Given the description of an element on the screen output the (x, y) to click on. 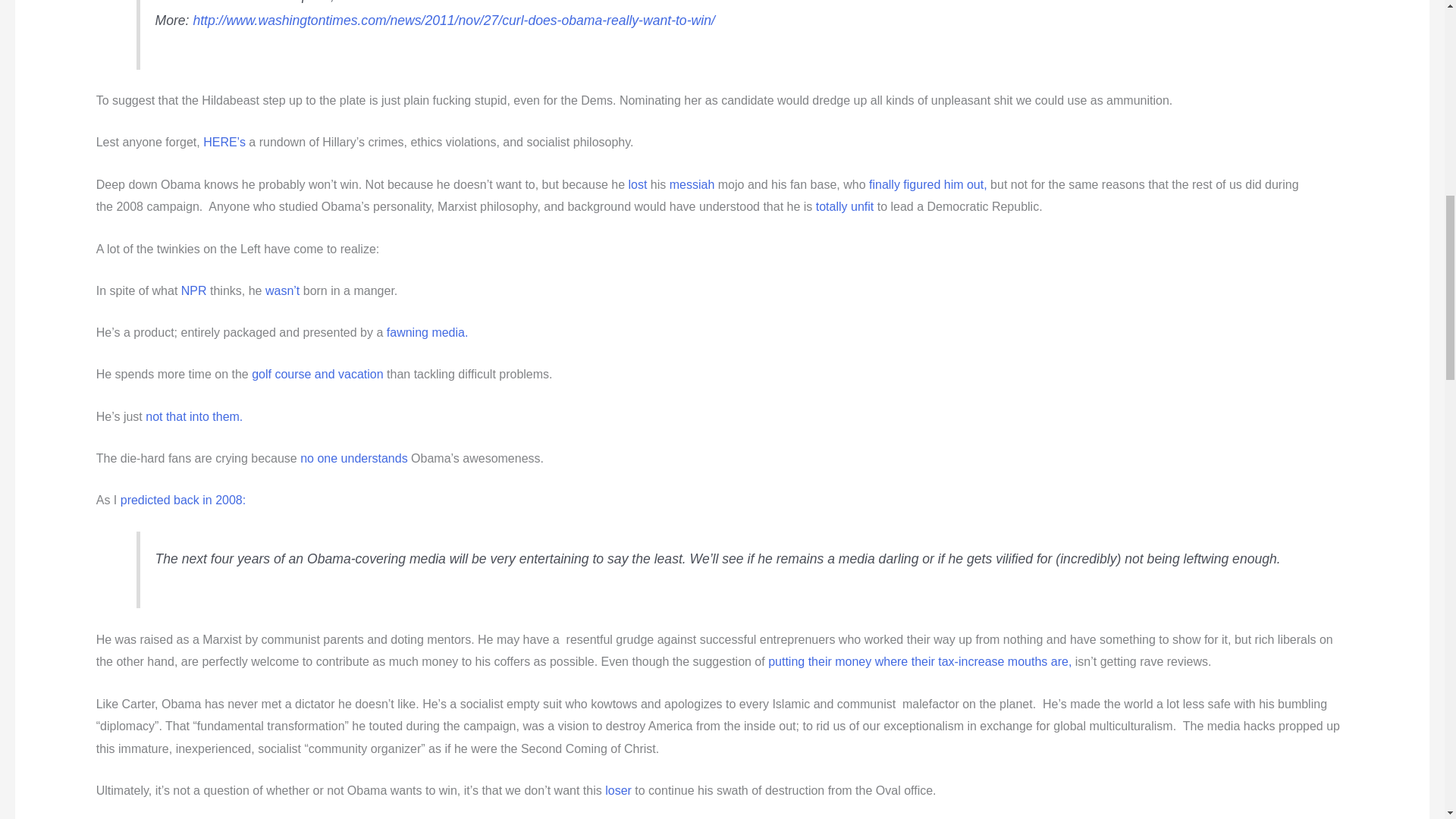
predicted back in 2008: (183, 499)
figured him out, (944, 184)
messiah (691, 184)
golf course and vacation (316, 373)
fawning media. (427, 332)
no one understands (353, 458)
lost (636, 184)
putting their money where their tax-increase mouths are, (919, 661)
NPR (193, 290)
not that into them. (194, 416)
